Given the description of an element on the screen output the (x, y) to click on. 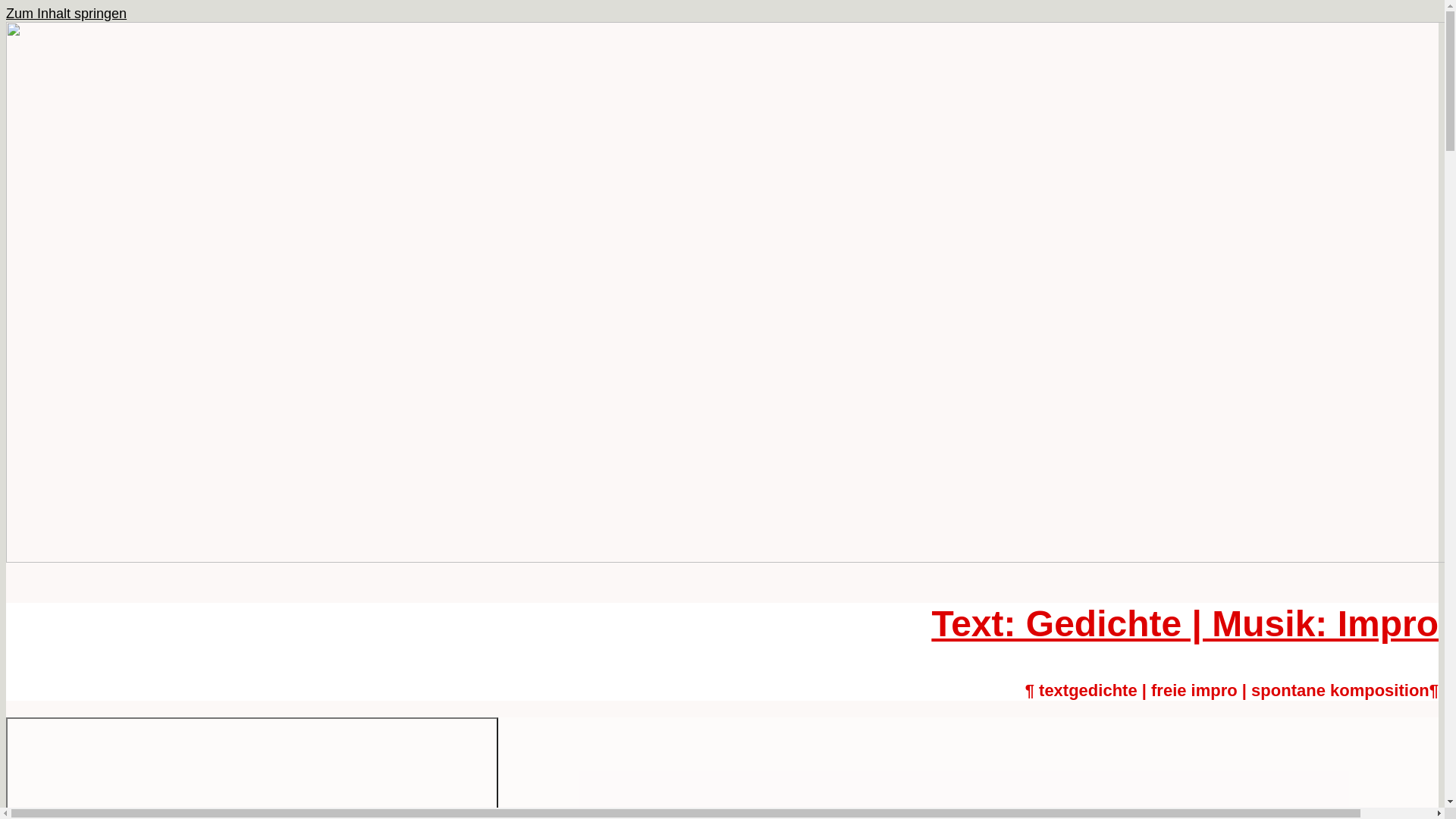
Zum Inhalt springen Element type: text (66, 13)
Text: Gedichte | Musik: Impro Element type: text (1184, 623)
